Given the description of an element on the screen output the (x, y) to click on. 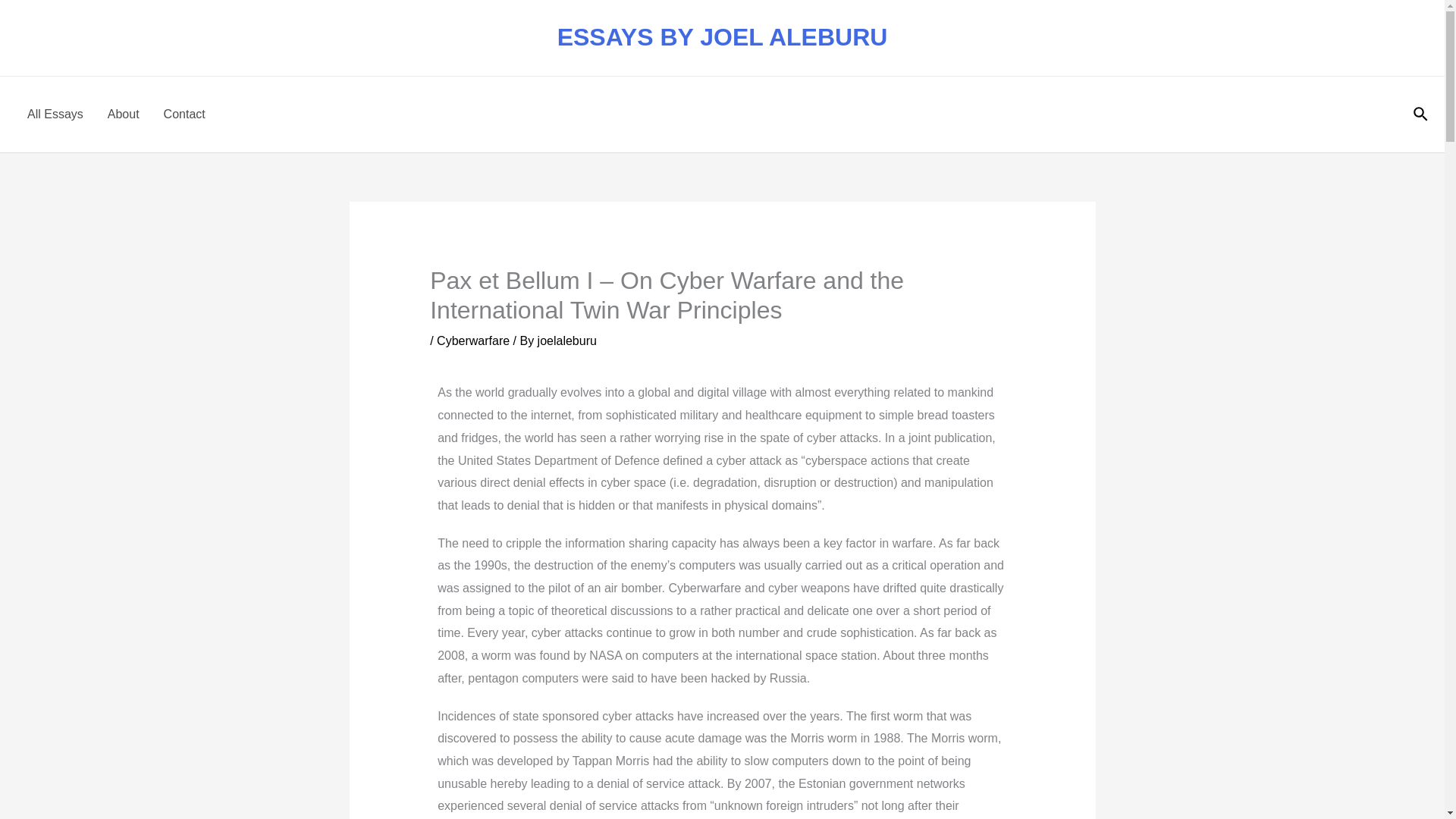
joelaleburu (566, 340)
All Essays (55, 114)
ESSAYS BY JOEL ALEBURU (722, 36)
View all posts by joelaleburu (566, 340)
Cyberwarfare (472, 340)
